Given the description of an element on the screen output the (x, y) to click on. 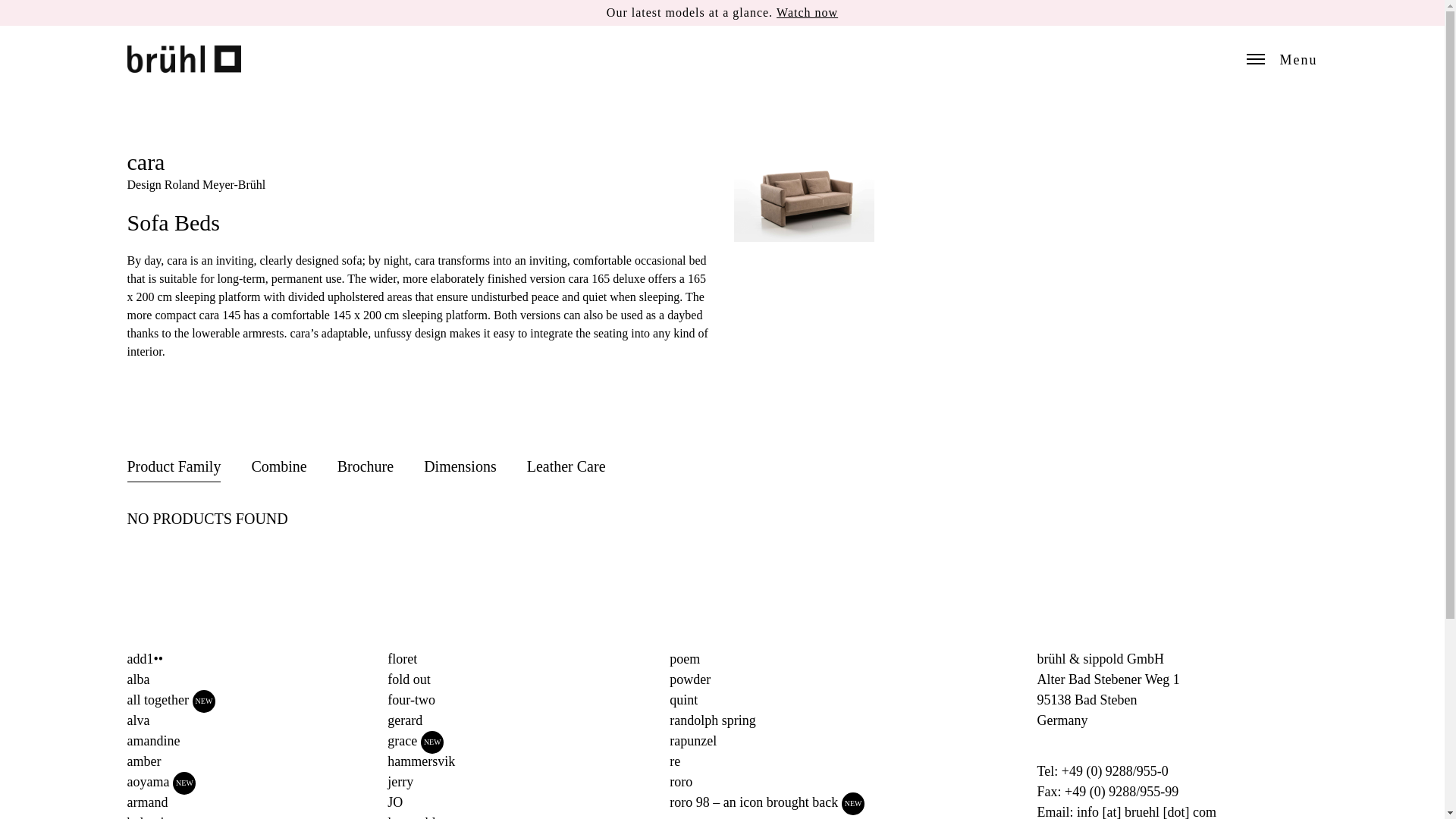
Watch now (807, 11)
Menu (1281, 58)
